Given the description of an element on the screen output the (x, y) to click on. 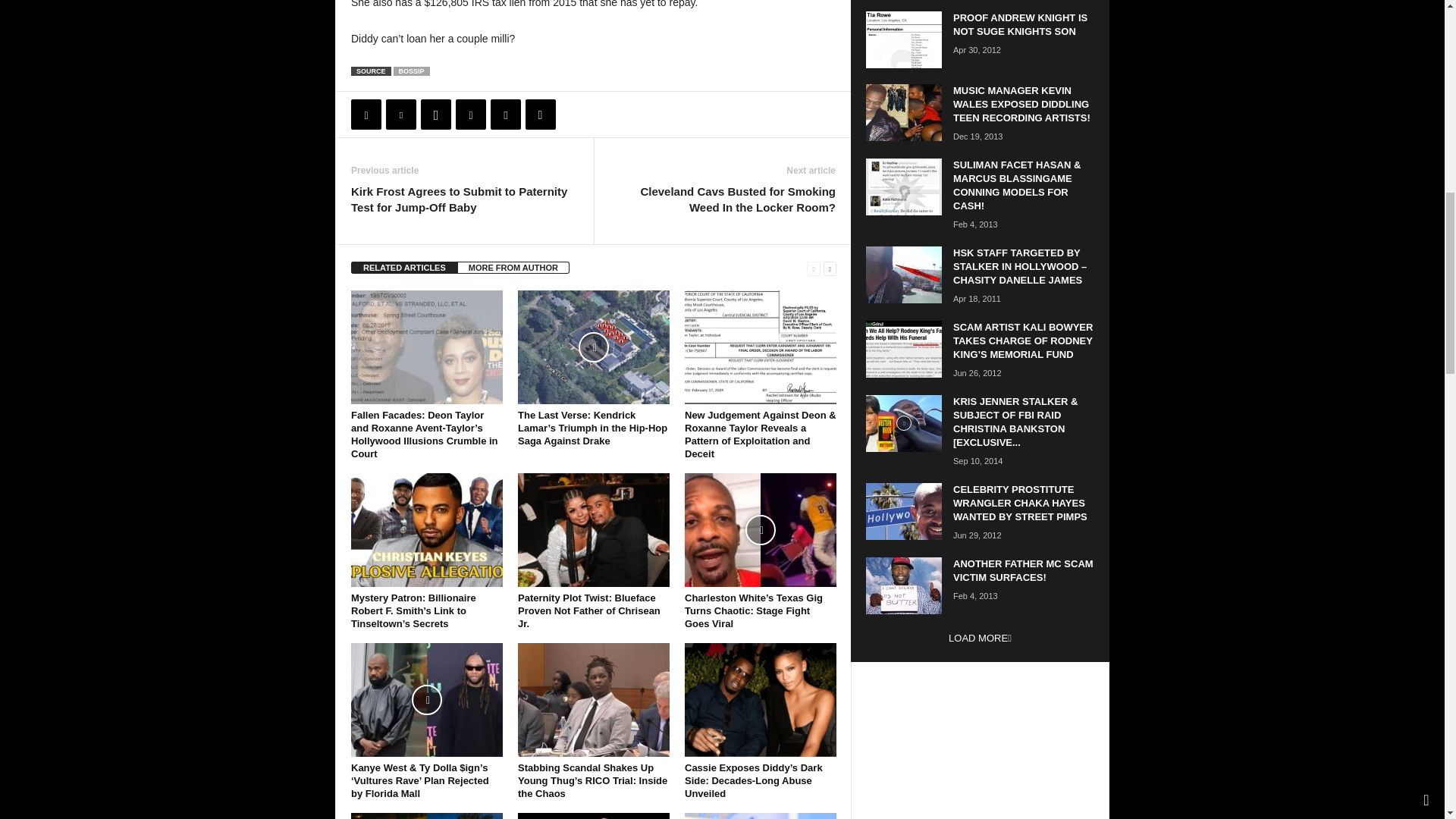
MORE FROM AUTHOR (513, 267)
Cleveland Cavs Busted for Smoking Weed In the Locker Room? (721, 199)
BOSSIP (411, 71)
RELATED ARTICLES (404, 267)
